Given the description of an element on the screen output the (x, y) to click on. 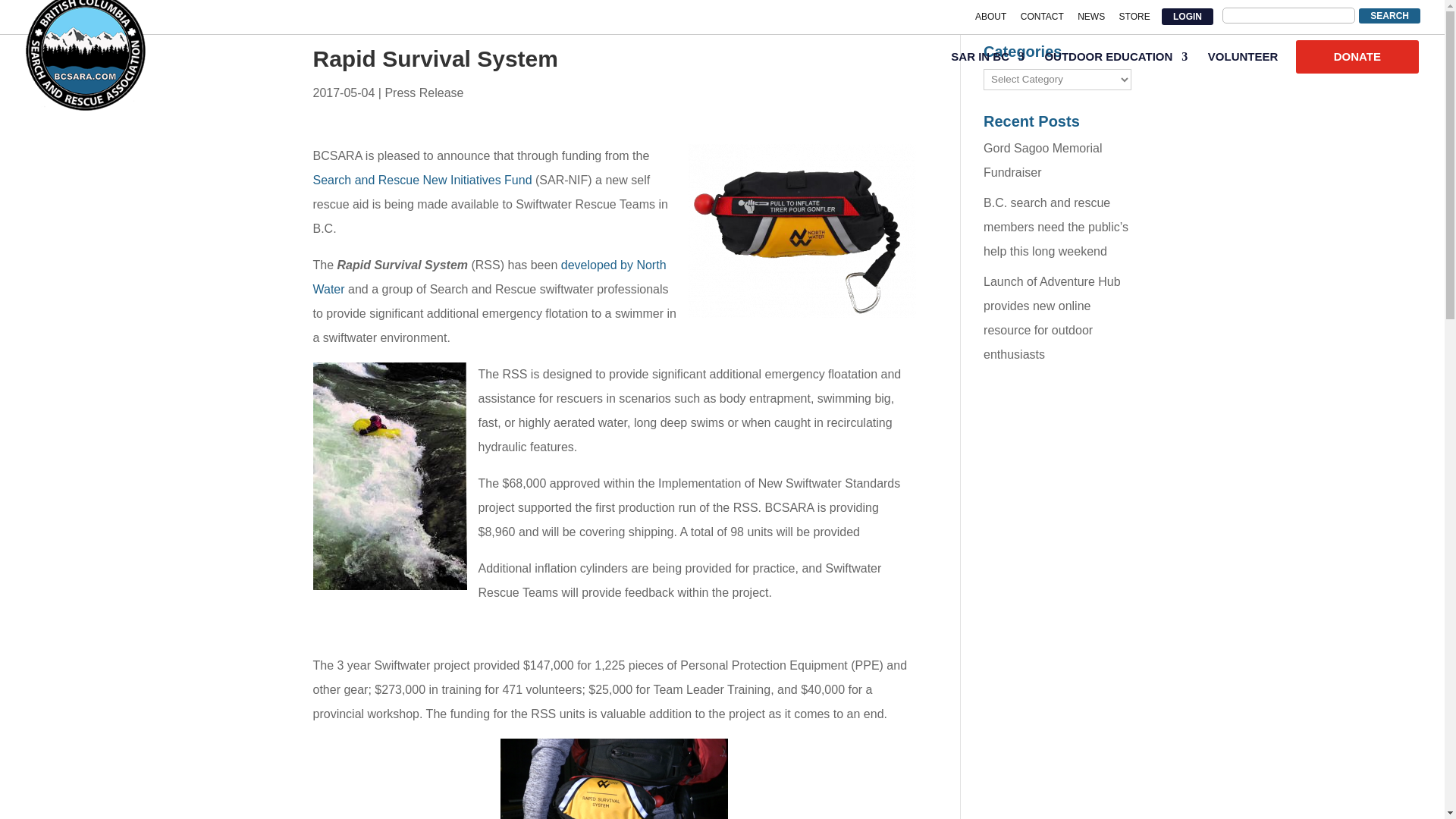
Search (1389, 15)
ABOUT (990, 19)
OUTDOOR EDUCATION (1115, 64)
STORE (1134, 19)
Search (1389, 15)
DONATE (1357, 56)
NEWS (1091, 19)
SAR IN BC (987, 64)
LOGIN (1187, 16)
VOLUNTEER (1243, 64)
